Given the description of an element on the screen output the (x, y) to click on. 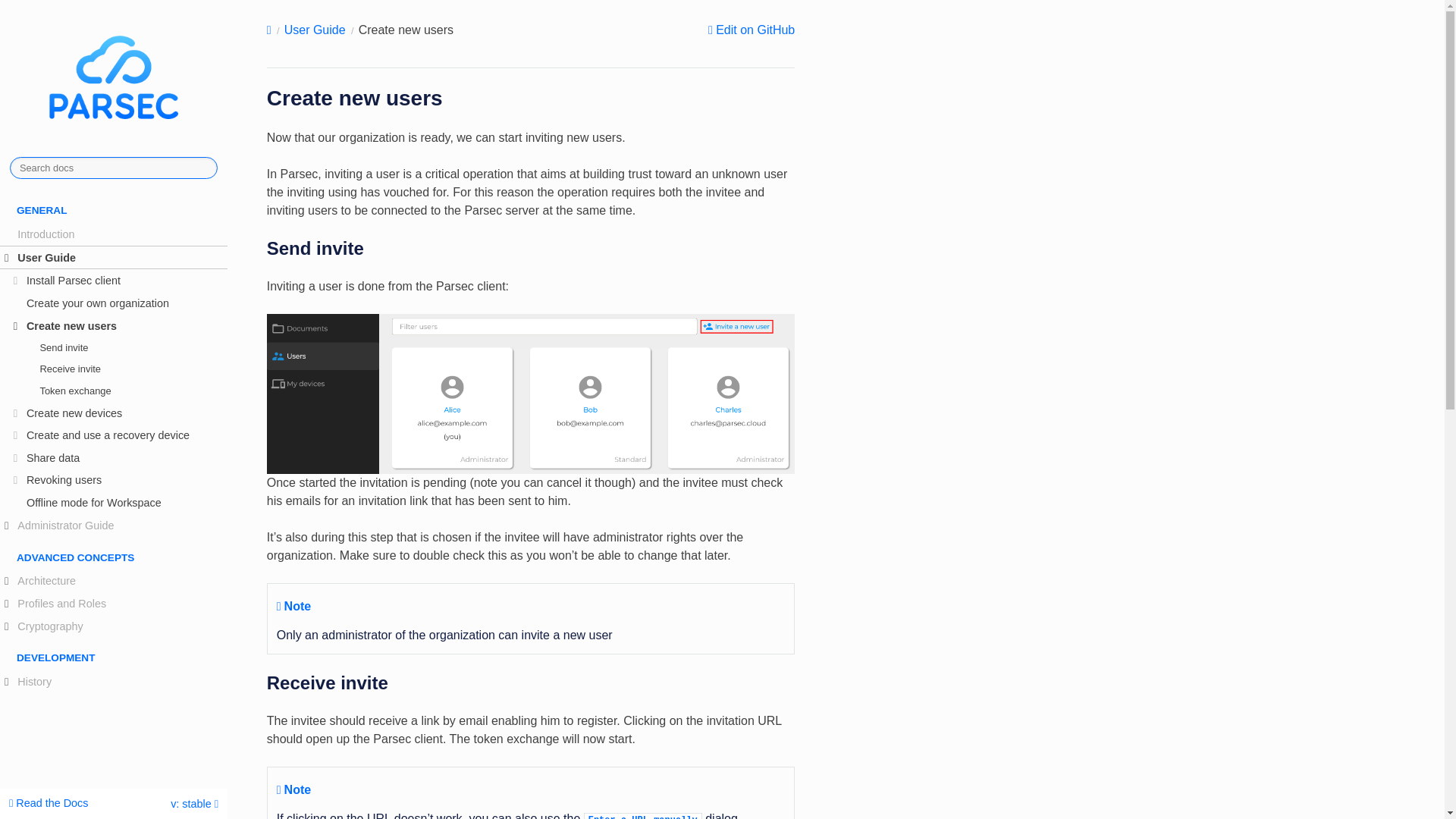
Introduction (113, 233)
User Guide (113, 257)
Create and use a recovery device (113, 435)
Revoking users (113, 480)
Token exchange (113, 390)
Create your own organization (113, 302)
Create new users (113, 325)
Send invite (113, 346)
Receive invite (113, 369)
Offline mode for Workspace (113, 502)
